Given the description of an element on the screen output the (x, y) to click on. 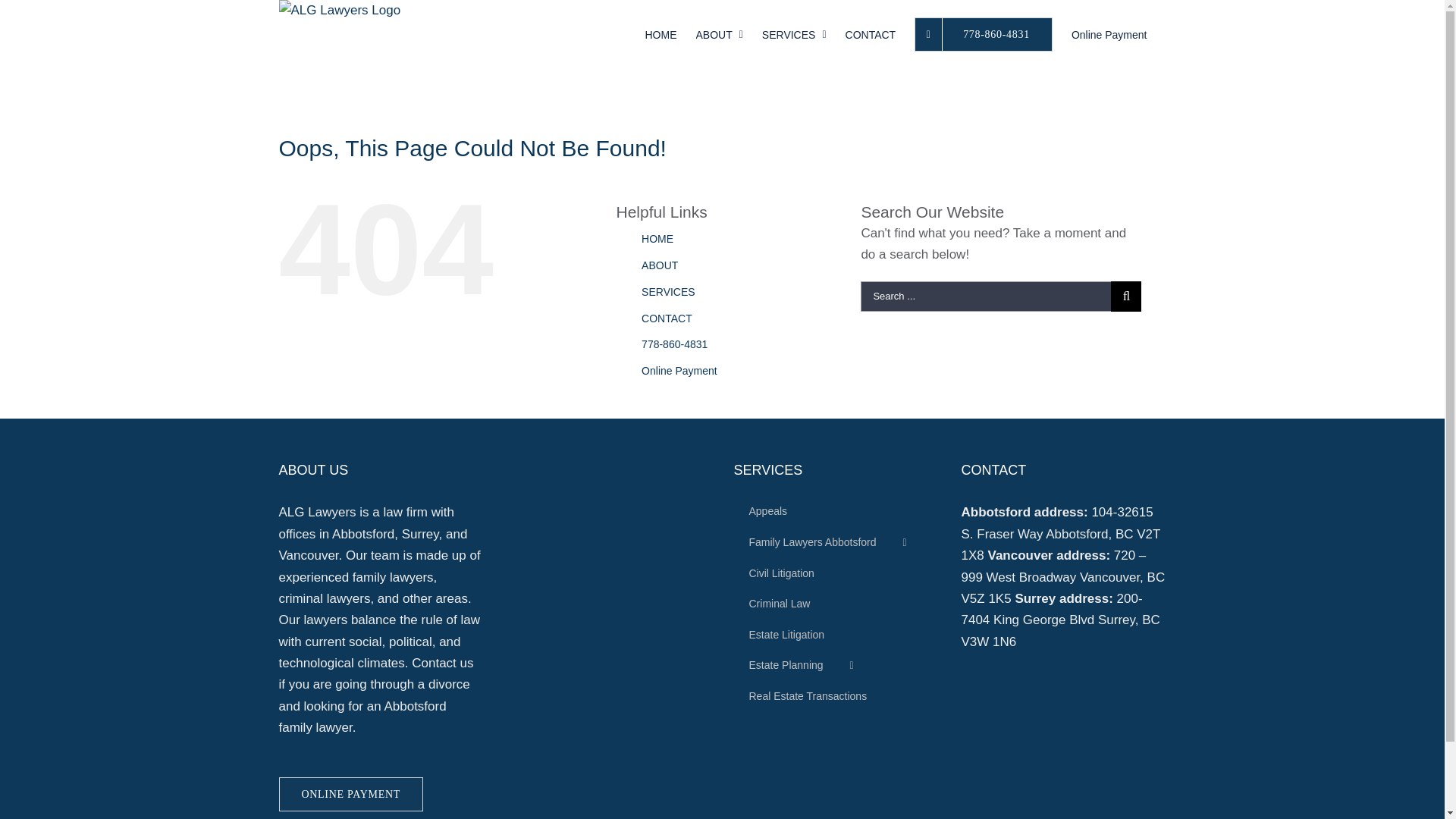
Estate Litigation Element type: text (836, 635)
CONTACT Element type: text (666, 318)
778-860-4831 Element type: text (983, 33)
SERVICES Element type: text (794, 33)
Family Lawyers Abbotsford Element type: text (836, 542)
HOME Element type: text (660, 33)
Appeals Element type: text (836, 511)
Criminal Law Element type: text (836, 604)
CONTACT Element type: text (870, 33)
HOME Element type: text (657, 238)
Real Estate Transactions Element type: text (836, 696)
ONLINE PAYMENT Element type: text (351, 794)
ABOUT Element type: text (659, 265)
Online Payment Element type: text (1109, 33)
Civil Litigation Element type: text (836, 573)
SERVICES Element type: text (668, 291)
778-860-4831 Element type: text (674, 344)
Online Payment Element type: text (679, 370)
Estate Planning Element type: text (836, 665)
ABOUT Element type: text (719, 33)
